Given the description of an element on the screen output the (x, y) to click on. 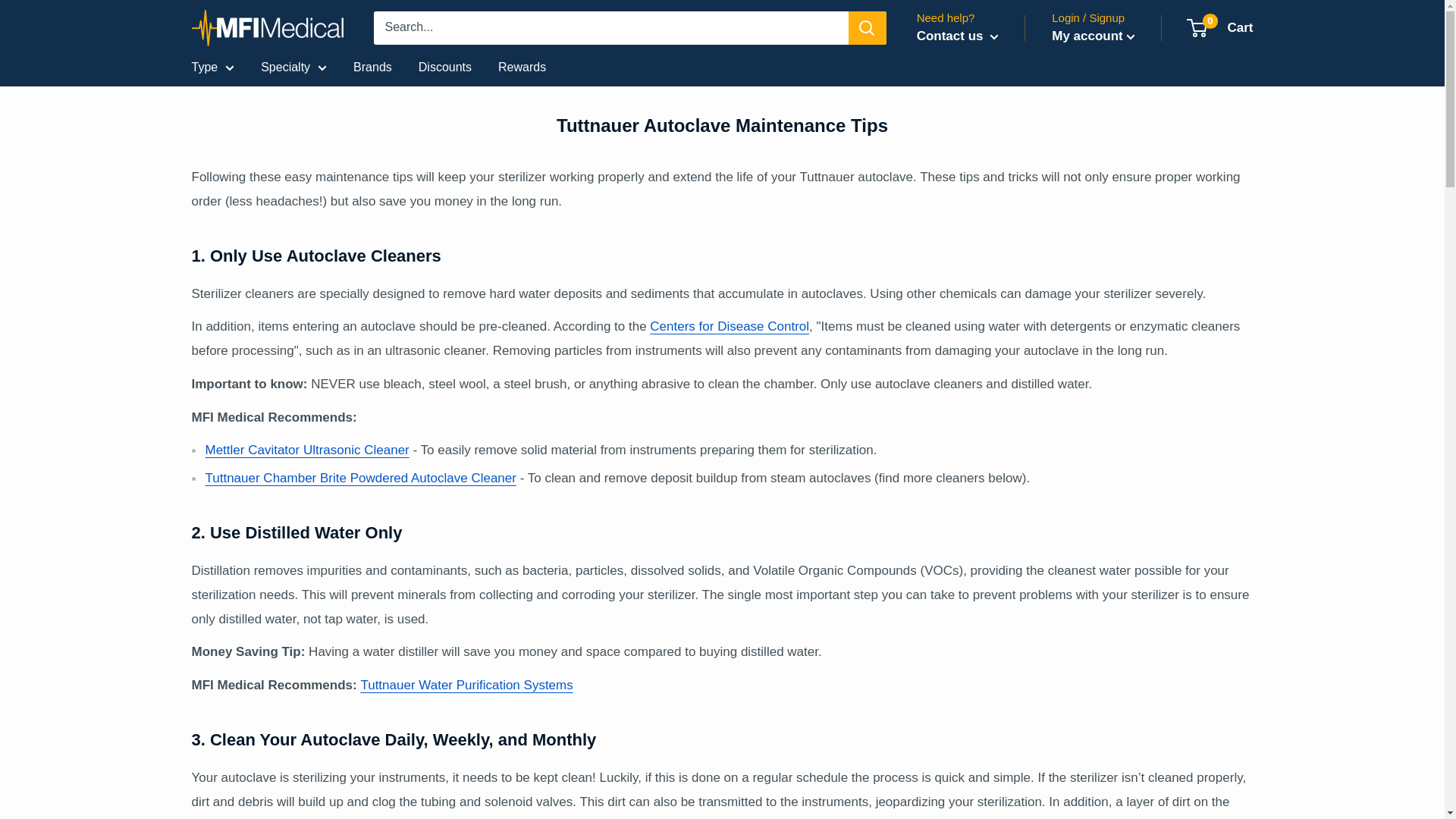
Tuttnauer Water Purification Systems (465, 685)
Mettler Cavitator Ultrasonic Cleaner (307, 450)
